Given the description of an element on the screen output the (x, y) to click on. 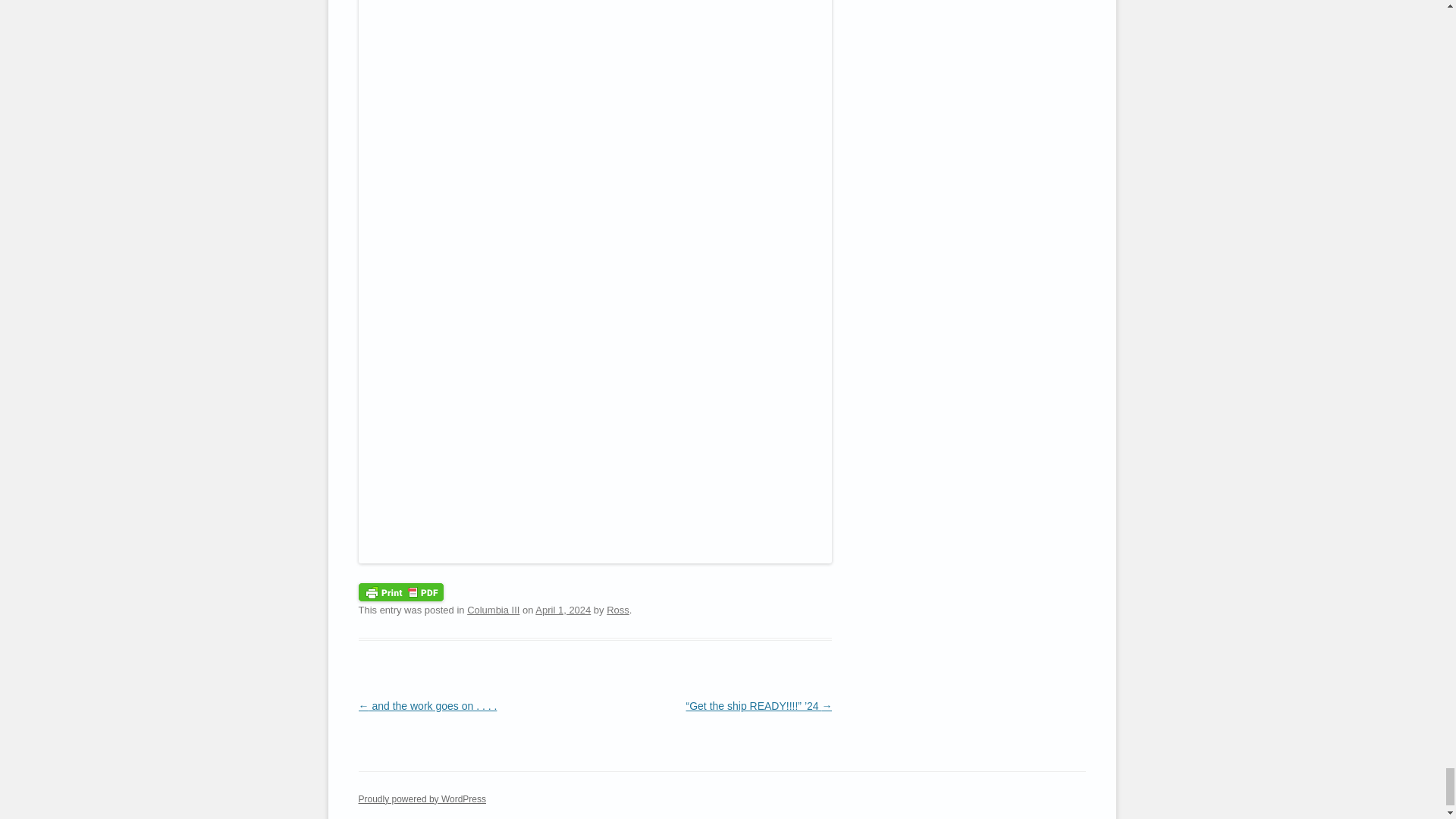
Semantic Personal Publishing Platform (422, 798)
6:42 pm (563, 609)
View all posts by Ross (617, 609)
